Given the description of an element on the screen output the (x, y) to click on. 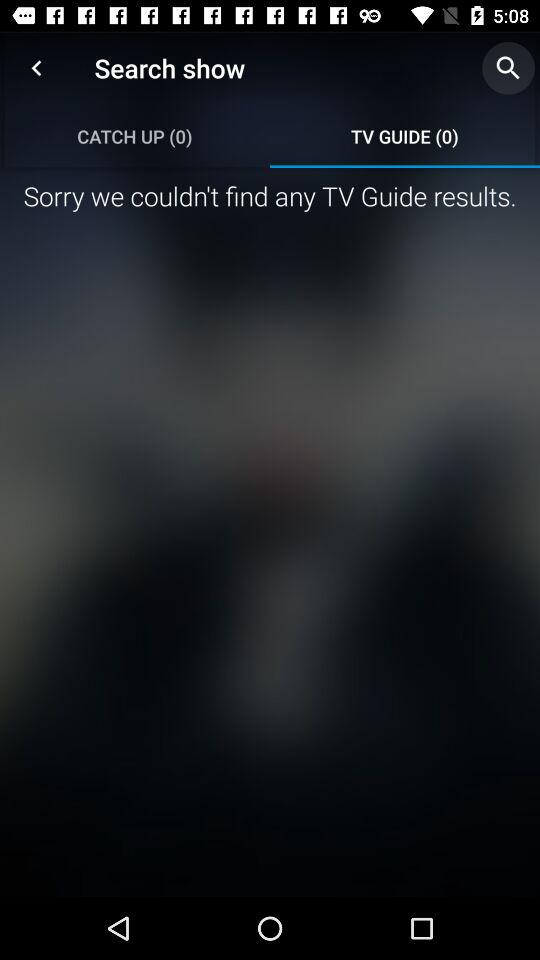
click the item above the catch up (0) icon (36, 68)
